Given the description of an element on the screen output the (x, y) to click on. 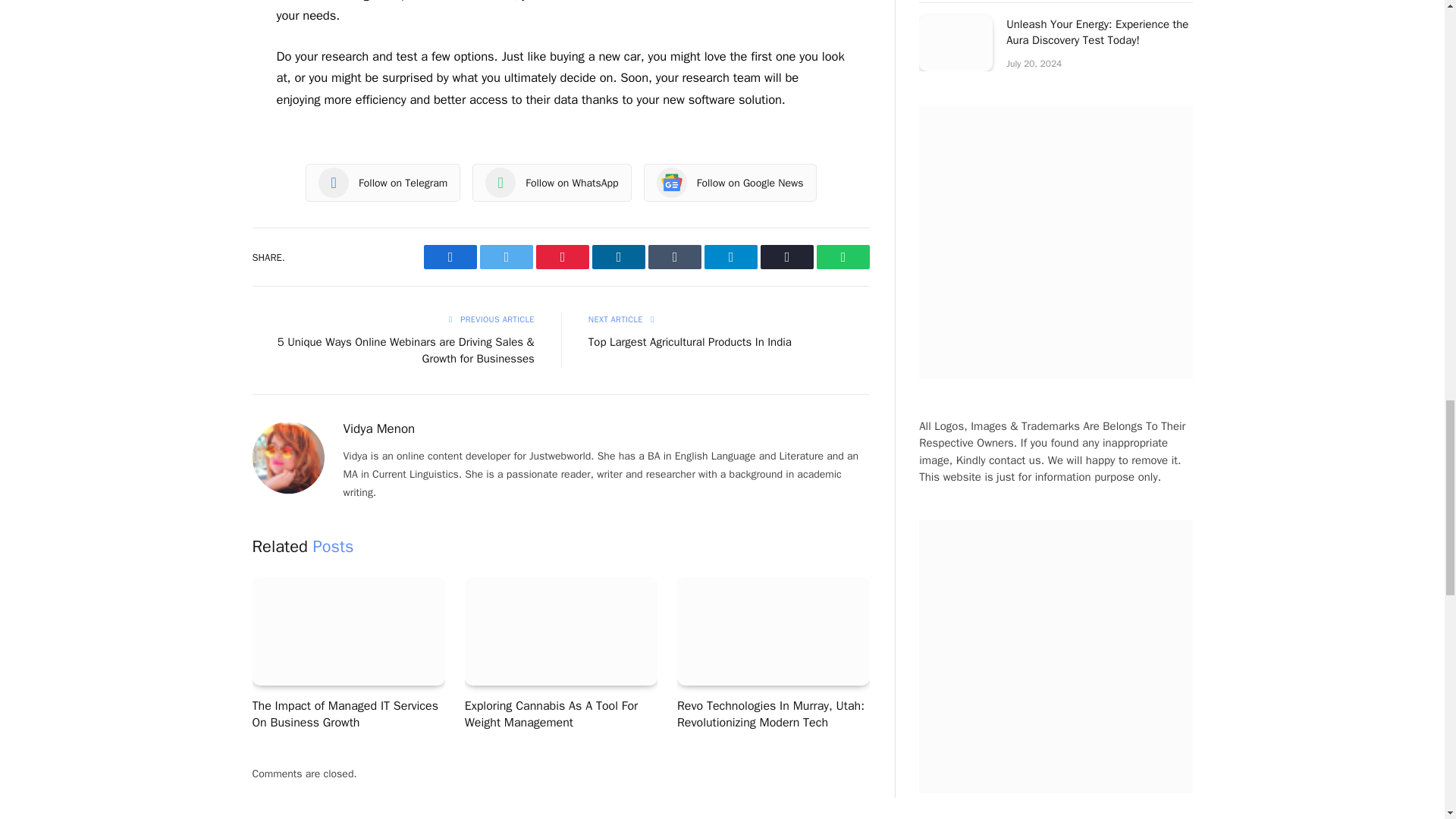
Share on Facebook (450, 256)
